Given the description of an element on the screen output the (x, y) to click on. 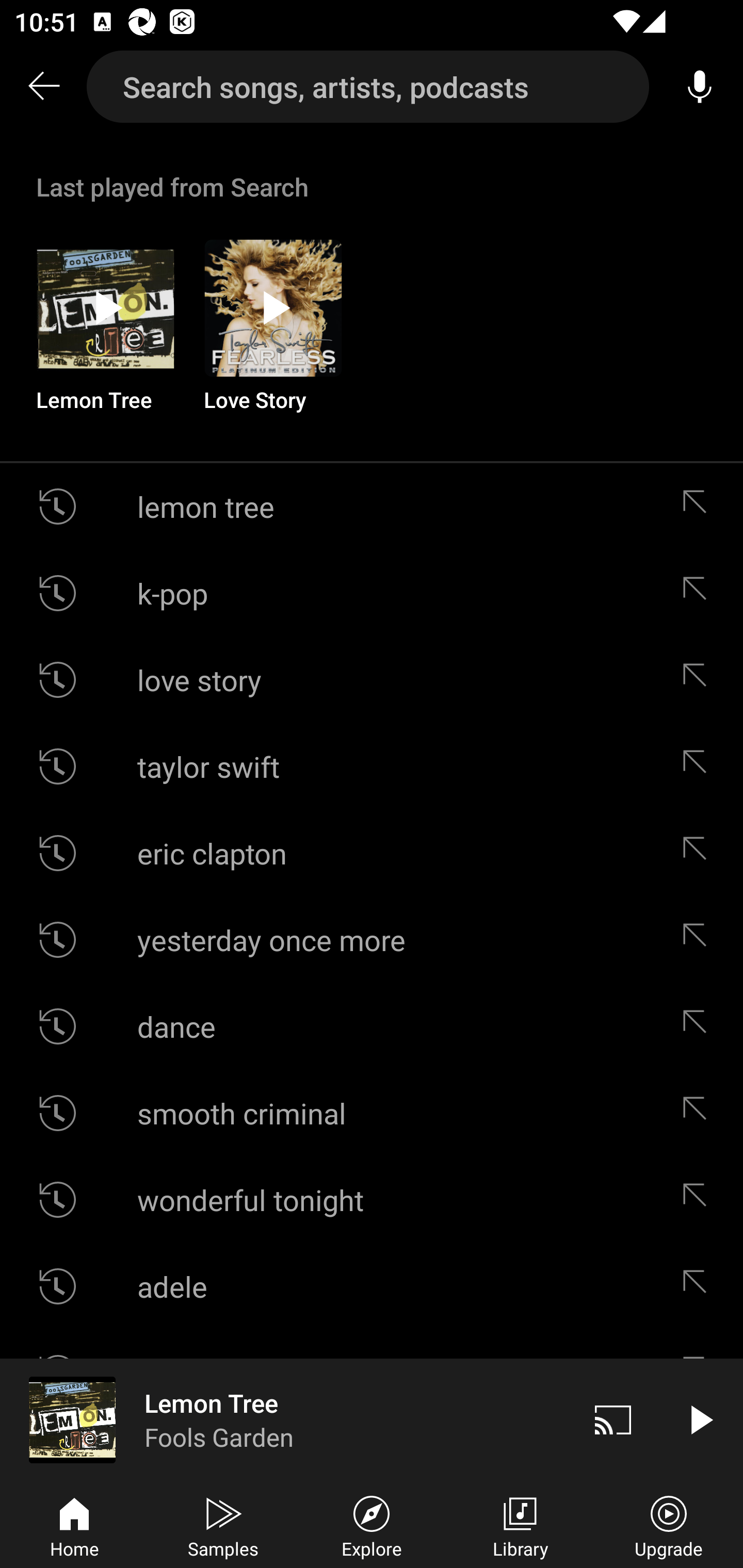
Search back (43, 86)
Search songs, artists, podcasts (367, 86)
Voice search (699, 86)
lemon tree Edit suggestion lemon tree (371, 506)
Edit suggestion lemon tree (699, 506)
k-pop Edit suggestion k-pop (371, 593)
Edit suggestion k-pop (699, 593)
love story Edit suggestion love story (371, 679)
Edit suggestion love story (699, 679)
taylor swift Edit suggestion taylor swift (371, 765)
Edit suggestion taylor swift (699, 765)
eric clapton Edit suggestion eric clapton (371, 852)
Edit suggestion eric clapton (699, 852)
Edit suggestion yesterday once more (699, 939)
dance Edit suggestion dance (371, 1026)
Edit suggestion dance (699, 1026)
smooth criminal Edit suggestion smooth criminal (371, 1113)
Edit suggestion smooth criminal (699, 1113)
Edit suggestion wonderful tonight (699, 1200)
adele Edit suggestion adele (371, 1286)
Edit suggestion adele (699, 1286)
Lemon Tree Fools Garden (284, 1419)
Cast. Disconnected (612, 1419)
Play video (699, 1419)
Home (74, 1524)
Samples (222, 1524)
Explore (371, 1524)
Library (519, 1524)
Upgrade (668, 1524)
